Given the description of an element on the screen output the (x, y) to click on. 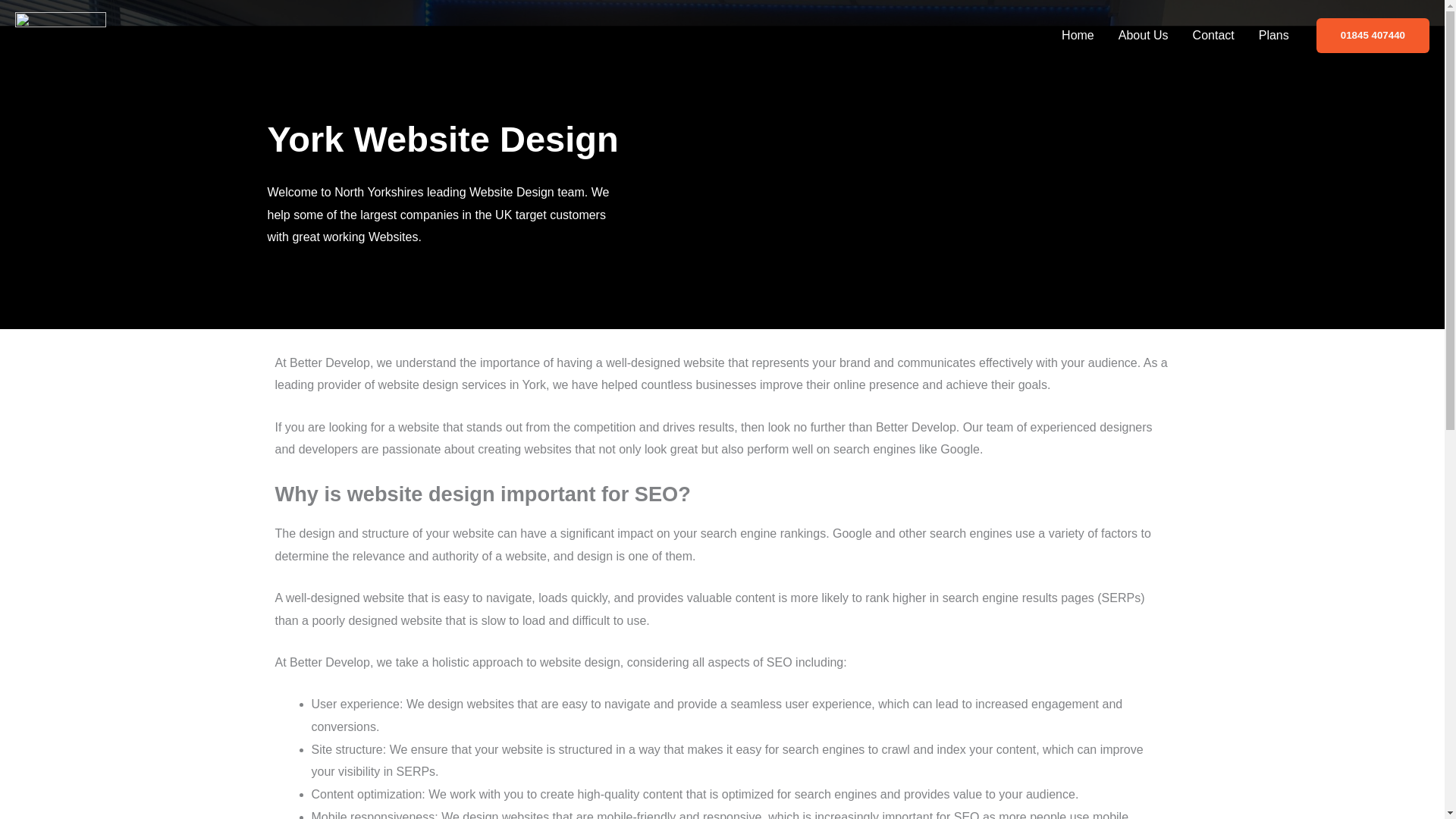
01845 407440 (1372, 35)
Plans (1273, 35)
Contact (1213, 35)
Home (1077, 35)
About Us (1143, 35)
